Given the description of an element on the screen output the (x, y) to click on. 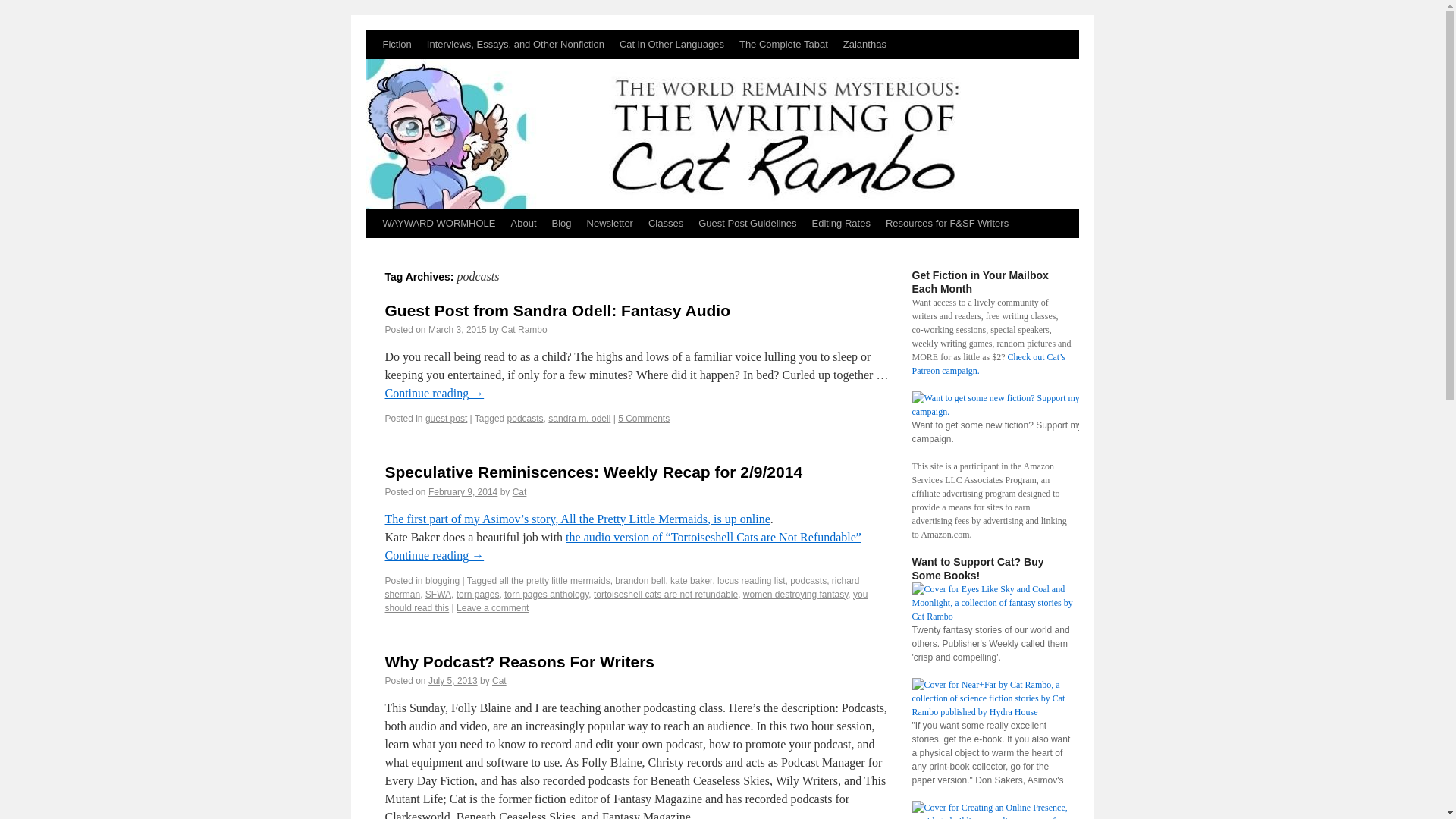
Blog (561, 223)
torn pages anthology (545, 593)
1:22 pm (462, 491)
Interviews, Essays, and Other Nonfiction (515, 44)
Interviews (515, 44)
The Complete Tabat (783, 44)
Permalink to Why Podcast? Reasons For Writers (520, 661)
blogging (442, 580)
all the pretty little mermaids (554, 580)
Permalink to Guest Post from Sandra Odell: Fantasy Audio (557, 310)
